Given the description of an element on the screen output the (x, y) to click on. 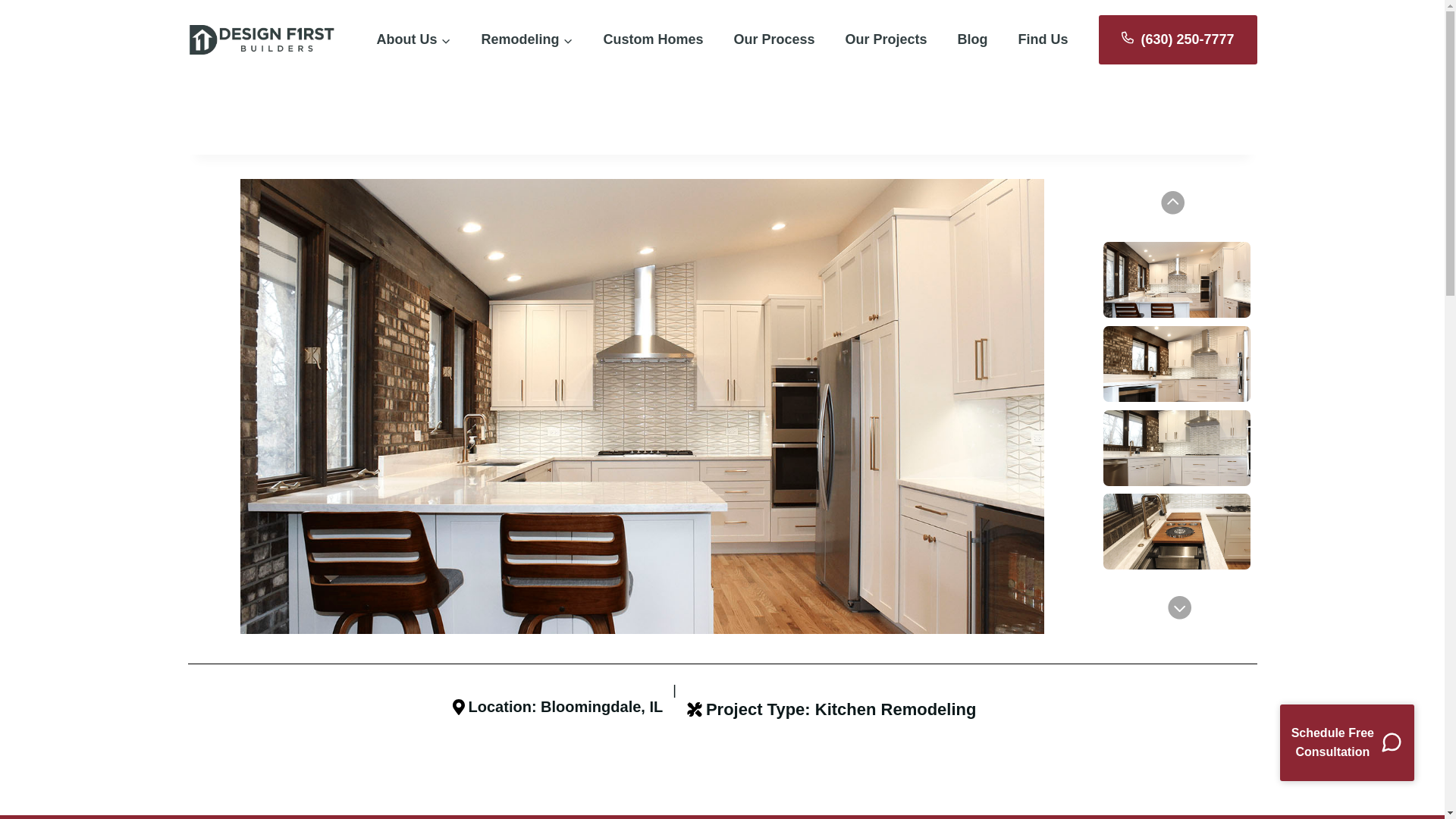
Our Process (1346, 742)
Next (773, 39)
Blog (1123, 576)
Our Projects (972, 39)
Custom Homes (885, 39)
Previous (652, 39)
Remodeling (1085, 225)
About Us (526, 39)
Find Us (413, 39)
